Given the description of an element on the screen output the (x, y) to click on. 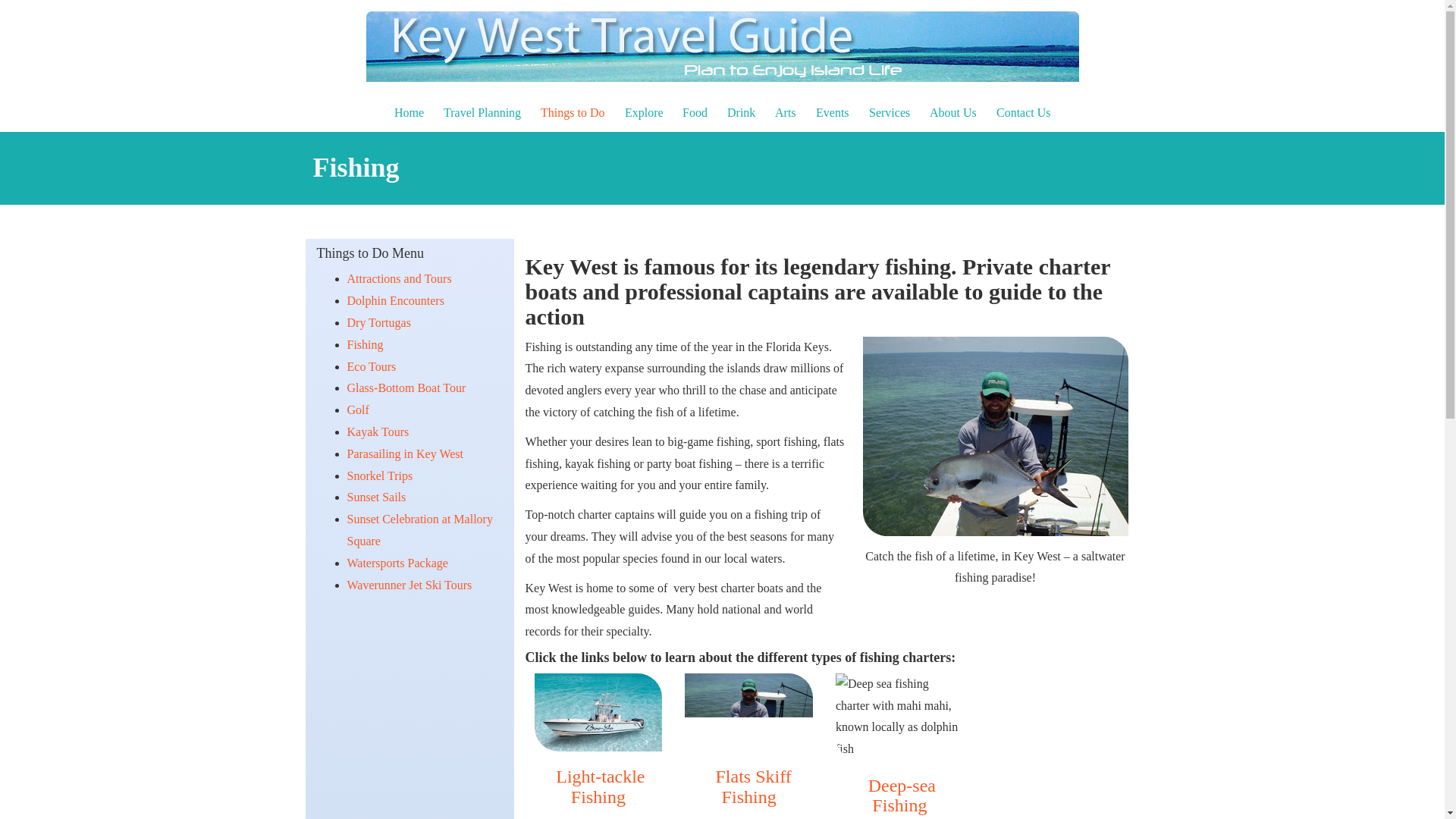
Home (408, 112)
Things to Do (572, 112)
Travel Planning (481, 112)
